Given the description of an element on the screen output the (x, y) to click on. 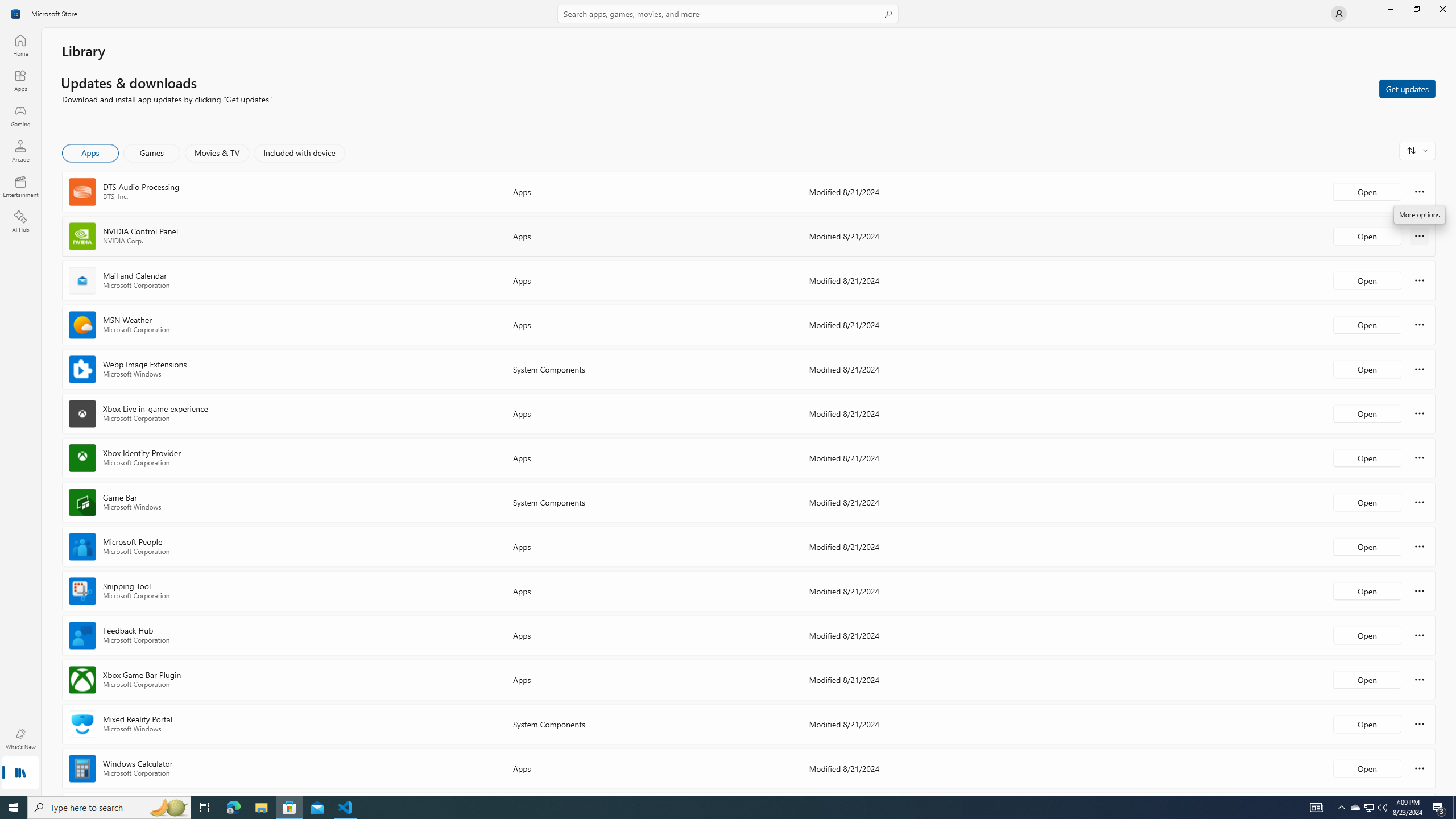
User profile (1338, 13)
Class: Image (15, 13)
Get updates (1406, 88)
What's New (20, 738)
AutomationID: NavigationControl (728, 398)
Sort and filter (1417, 149)
Restore Microsoft Store (1416, 9)
Gaming (20, 115)
Arcade (20, 150)
Games (151, 153)
Home (20, 45)
Search (727, 13)
Entertainment (20, 185)
More options (1419, 768)
Library (20, 773)
